Given the description of an element on the screen output the (x, y) to click on. 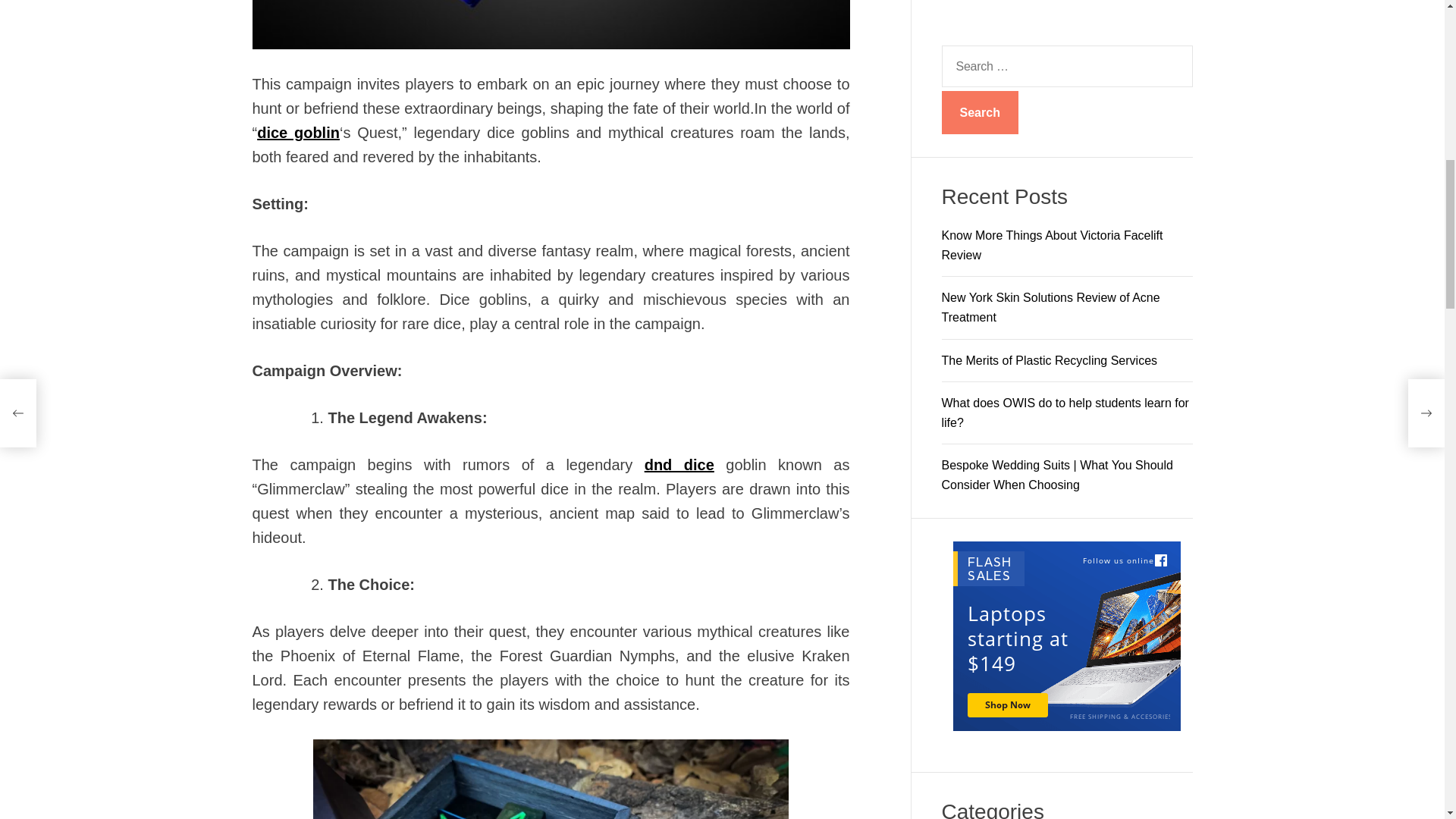
dnd dice (679, 464)
dice goblin (298, 132)
